Given the description of an element on the screen output the (x, y) to click on. 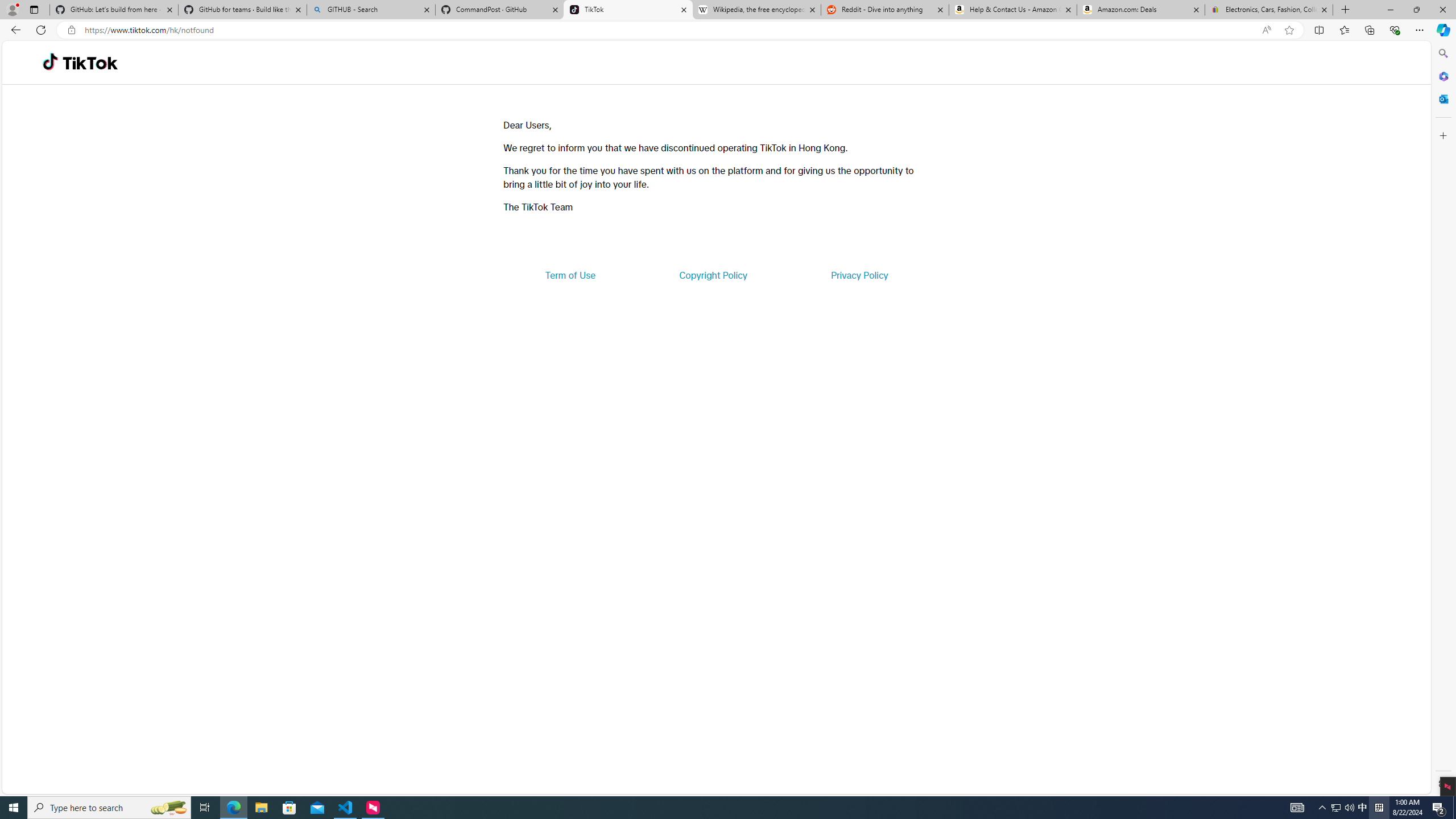
Privacy Policy (858, 274)
Help & Contact Us - Amazon Customer Service (1012, 9)
Wikipedia, the free encyclopedia (756, 9)
TikTok (89, 62)
